Given the description of an element on the screen output the (x, y) to click on. 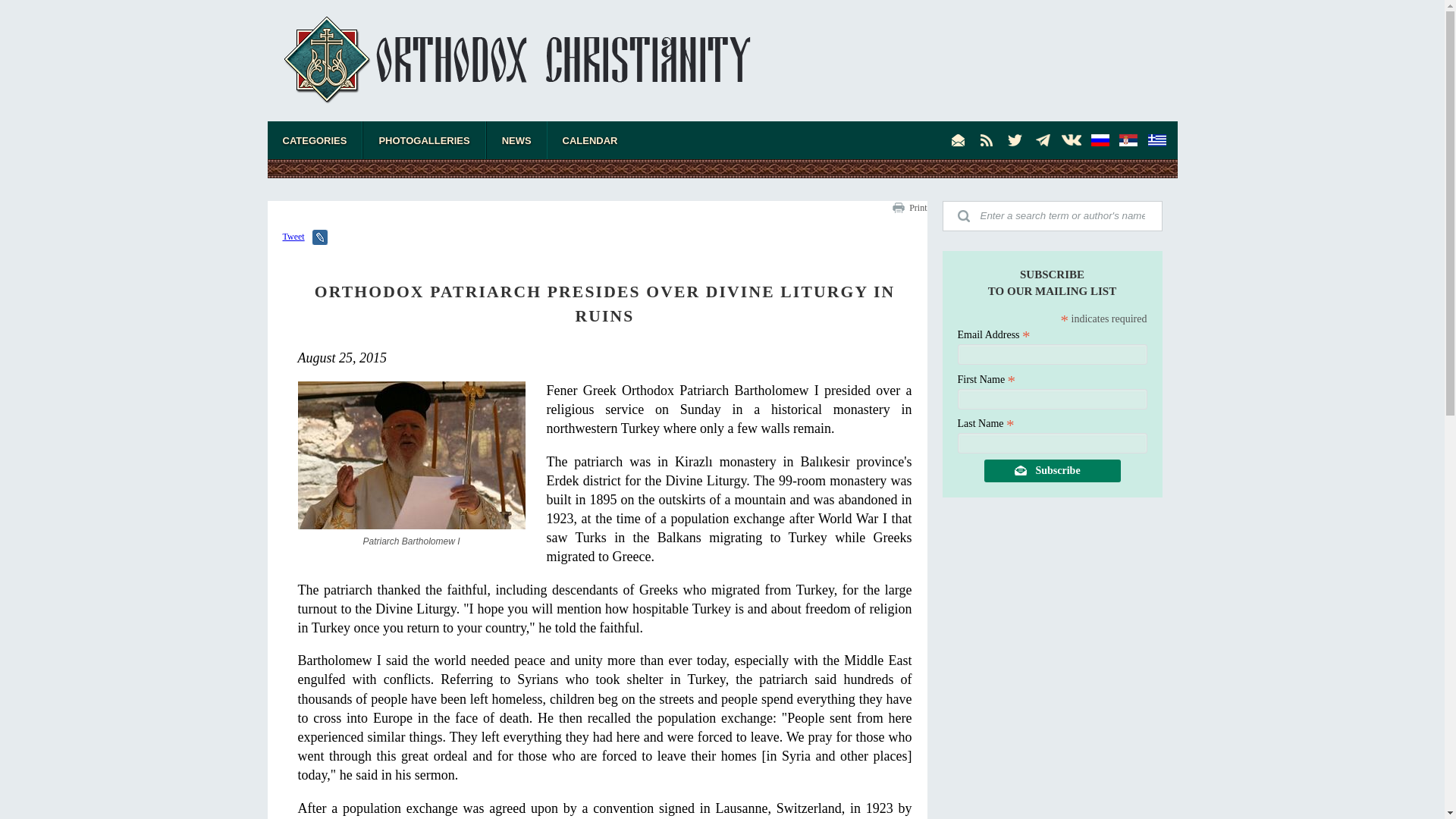
Sign up for our mailing list (958, 139)
Telegram (1043, 139)
PHOTOGALLERIES (423, 139)
Serbian (1128, 139)
Patriarch Bartholomew I (410, 464)
NEWS (516, 139)
CALENDAR (590, 139)
Russian (1100, 139)
VKontakte (1071, 139)
Tweet (293, 235)
